Given the description of an element on the screen output the (x, y) to click on. 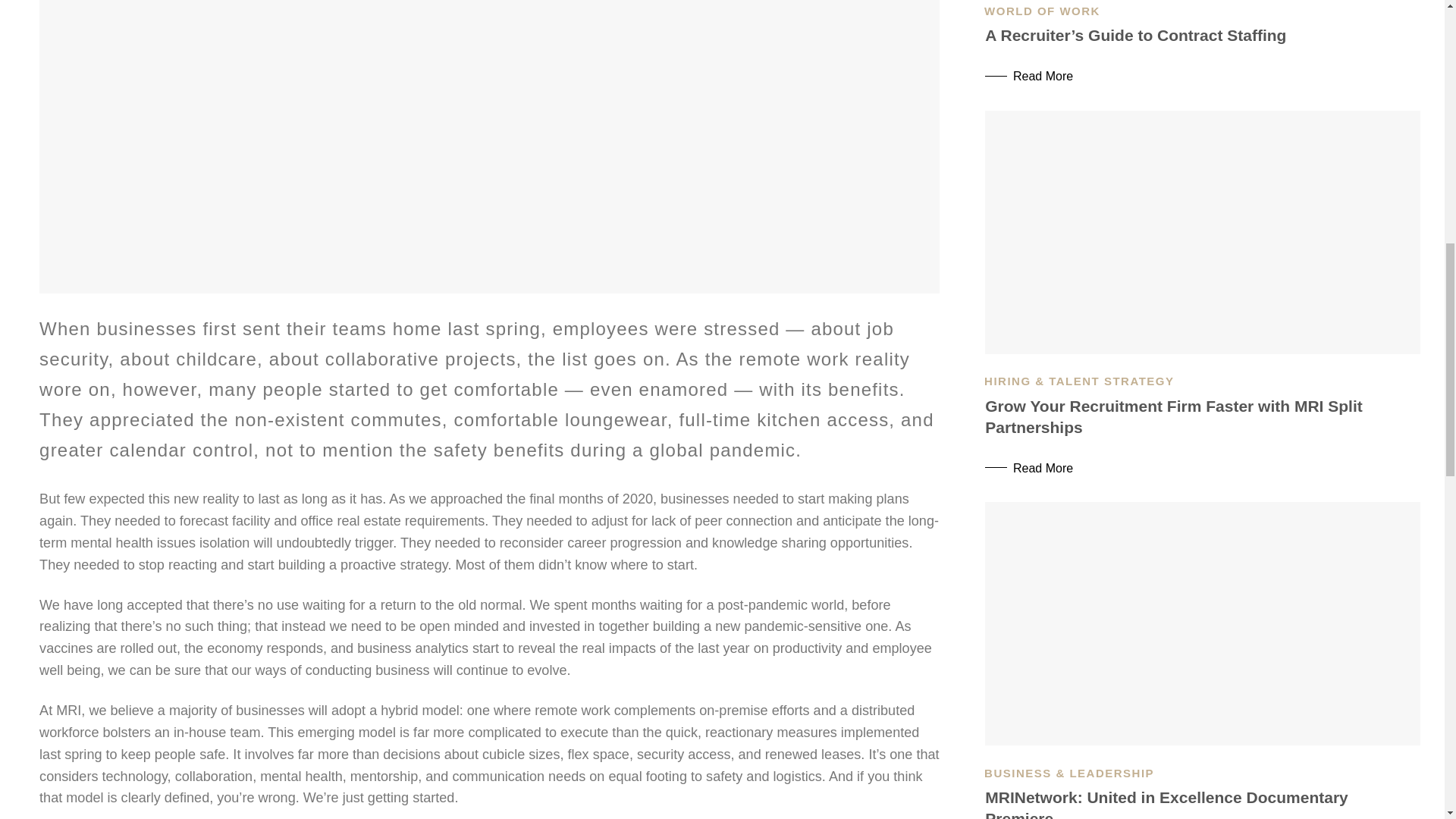
Read More (1203, 69)
WORLD OF WORK (1042, 11)
